Given the description of an element on the screen output the (x, y) to click on. 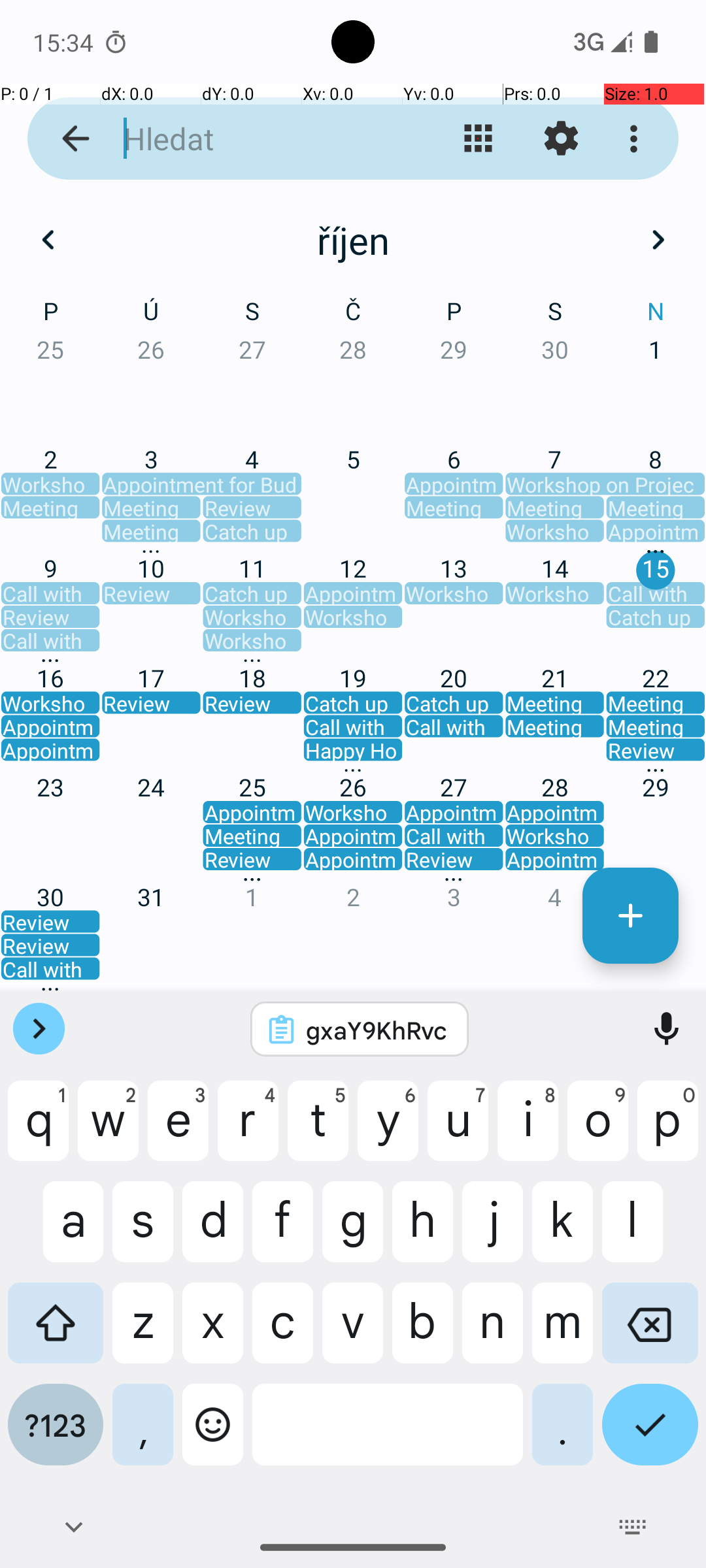
gxaY9KhRvc Element type: android.widget.TextView (376, 1029)
